Given the description of an element on the screen output the (x, y) to click on. 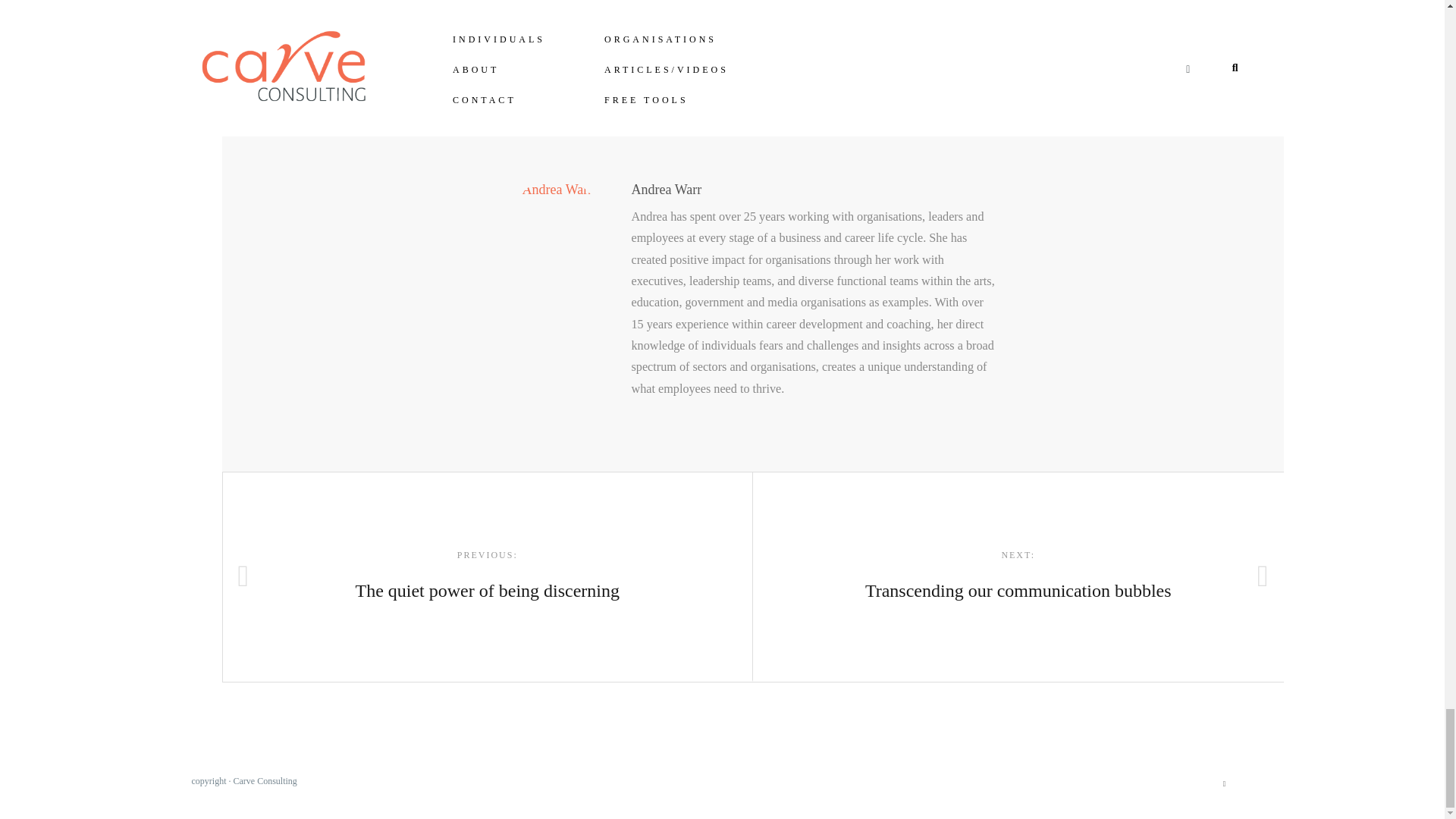
pyschological safety (699, 63)
Andrea Warr (665, 189)
Posts by Andrea Warr (487, 576)
Linkedin (665, 189)
workplace culture (1018, 576)
managing teams (1223, 783)
psychosocial risks (859, 63)
workplace (500, 63)
